Given the description of an element on the screen output the (x, y) to click on. 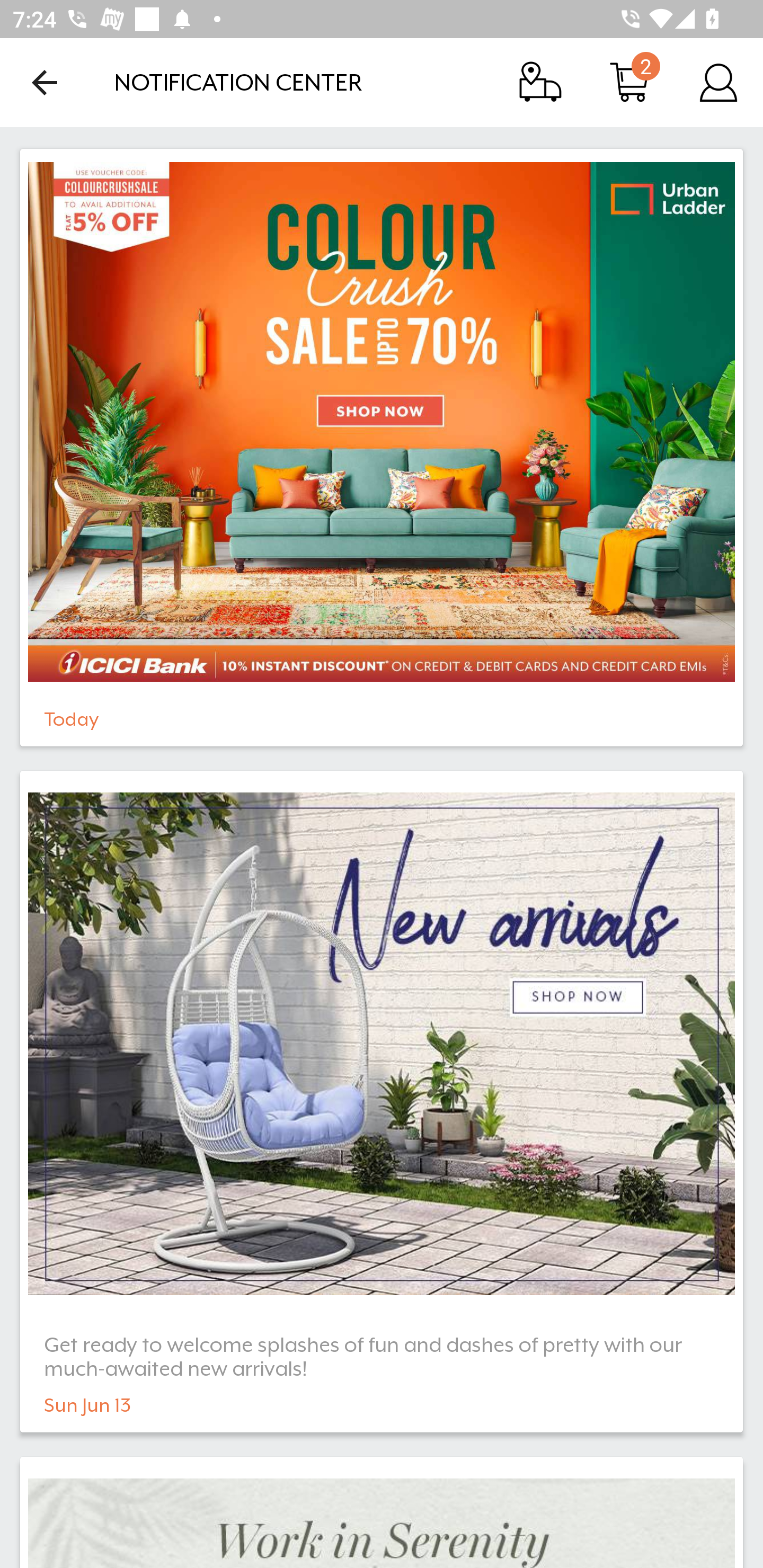
Navigate up (44, 82)
Track Order (540, 81)
Cart (629, 81)
Account Details (718, 81)
Today (381, 447)
